Given the description of an element on the screen output the (x, y) to click on. 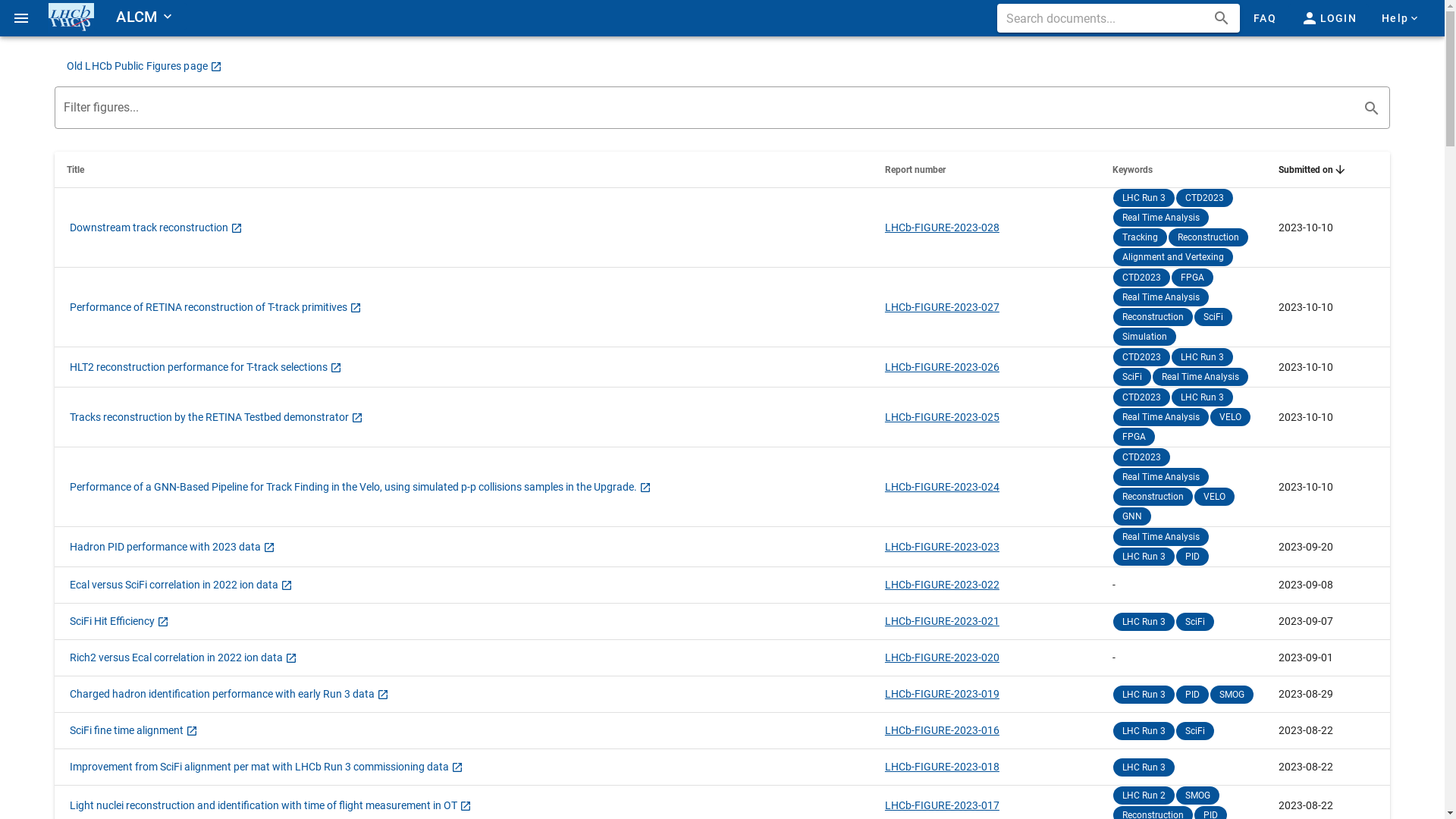
LHCb-FIGURE-2023-021 Element type: text (941, 621)
Help Element type: text (1400, 17)
HLT2 reconstruction performance for T-track selections Element type: text (205, 366)
SciFi Hit Efficiency Element type: text (119, 621)
LHCb-FIGURE-2023-022 Element type: text (941, 584)
Hadron PID performance with 2023 data Element type: text (172, 545)
LHCb-FIGURE-2023-023 Element type: text (941, 545)
Performance of RETINA reconstruction of T-track primitives Element type: text (215, 306)
LOGIN Element type: text (1328, 17)
Old LHCb Public Figures page Element type: text (144, 65)
Rich2 versus Ecal correlation in 2022 ion data Element type: text (183, 657)
LHCb-FIGURE-2023-026 Element type: text (941, 366)
LHCb-FIGURE-2023-020 Element type: text (941, 657)
Tracks reconstruction by the RETINA Testbed demonstrator Element type: text (216, 417)
LHCb-FIGURE-2023-017 Element type: text (941, 805)
LHCb-FIGURE-2023-024 Element type: text (941, 486)
Downstream track reconstruction Element type: text (155, 227)
LHCb-FIGURE-2023-027 Element type: text (941, 306)
Ecal versus SciFi correlation in 2022 ion data Element type: text (180, 584)
SciFi fine time alignment Element type: text (133, 730)
LHCb-FIGURE-2023-016 Element type: text (941, 730)
LHCb-FIGURE-2023-025 Element type: text (941, 417)
FAQ Element type: text (1263, 17)
LHCb-FIGURE-2023-018 Element type: text (941, 766)
ALCM Element type: text (140, 16)
LHCb-FIGURE-2023-028 Element type: text (941, 227)
LHCb-FIGURE-2023-019 Element type: text (941, 693)
